Given the description of an element on the screen output the (x, y) to click on. 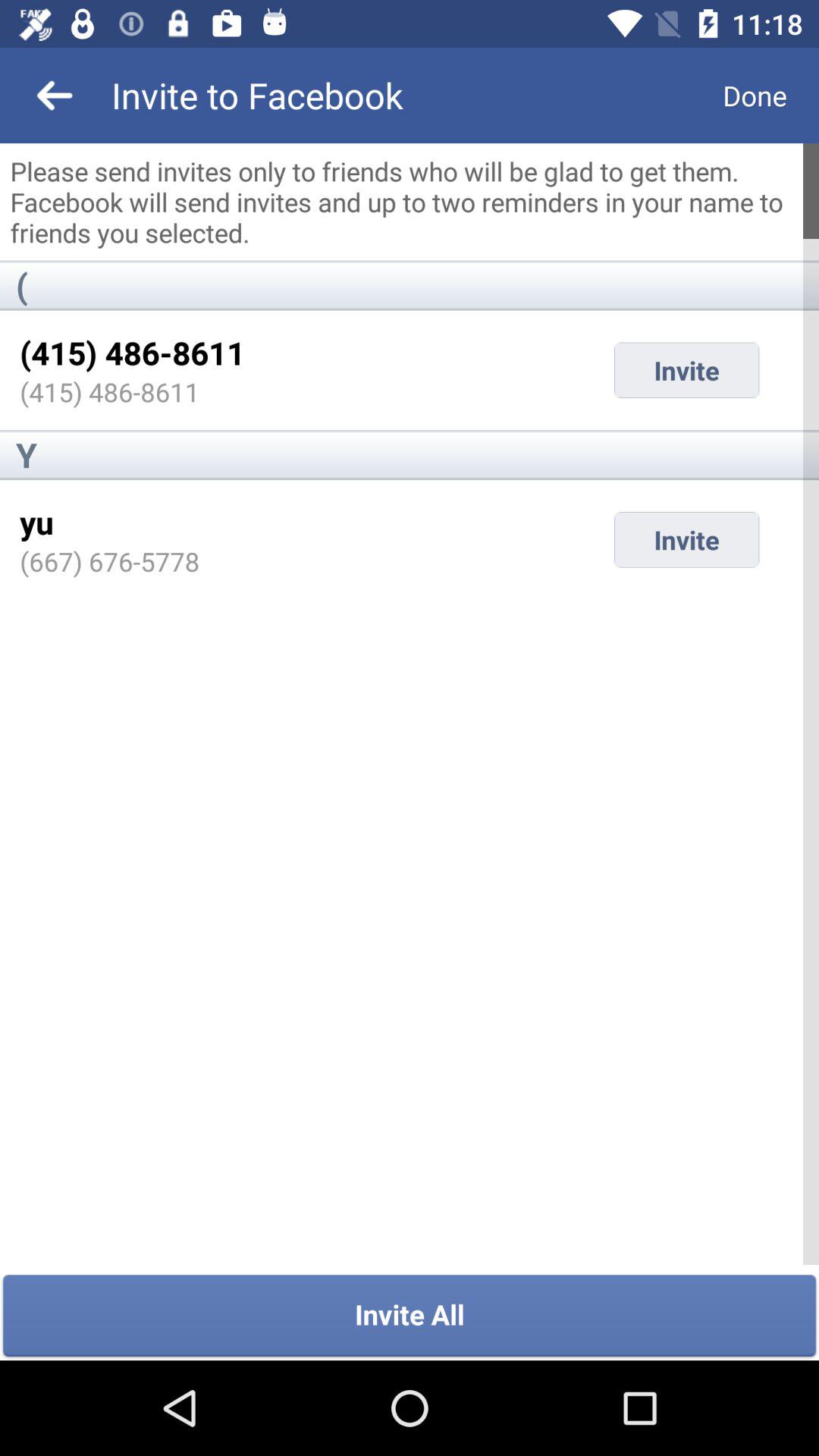
turn off icon to the left of invite icon (36, 521)
